Given the description of an element on the screen output the (x, y) to click on. 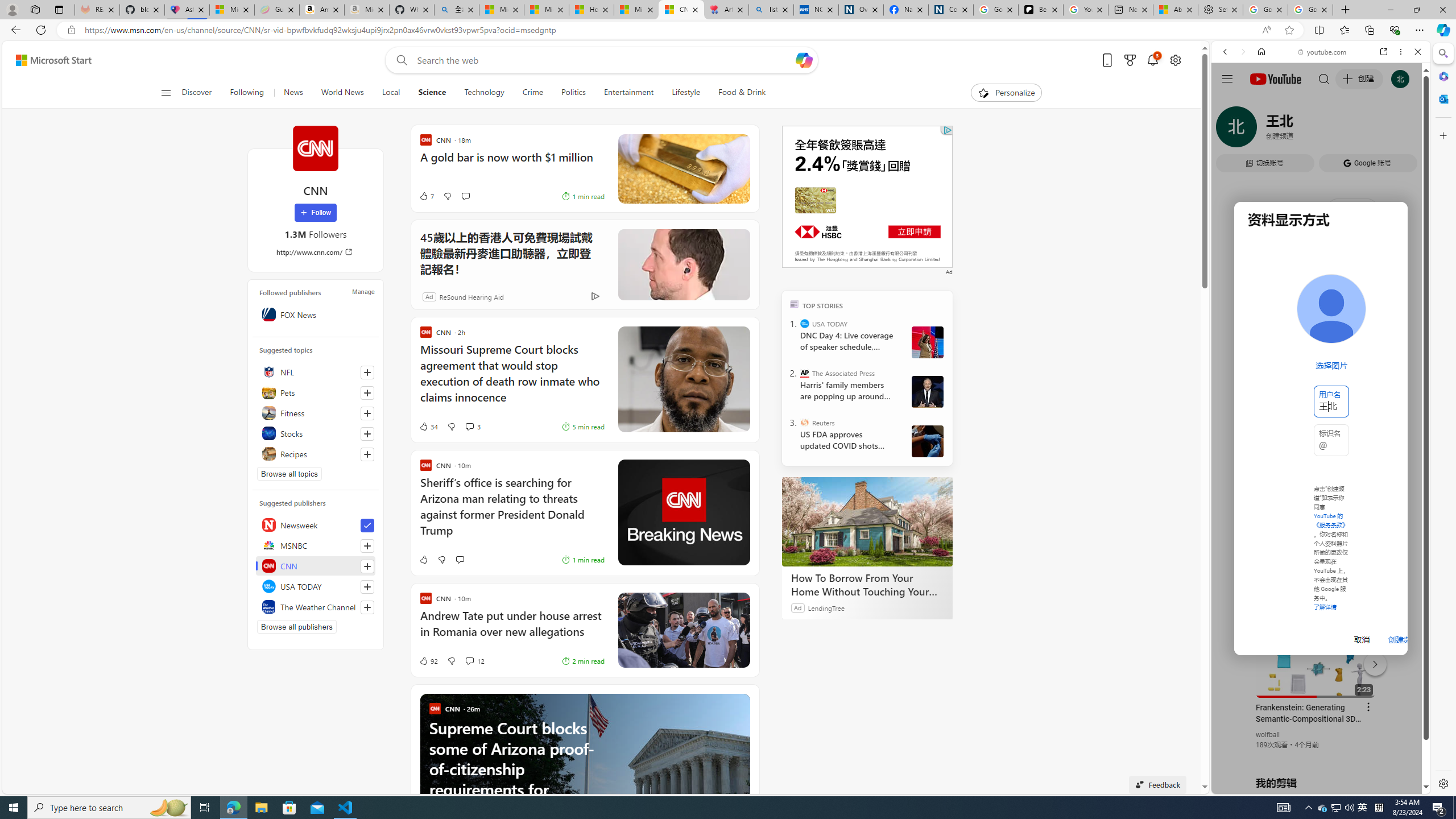
How I Got Rid of Microsoft Edge's Unnecessary Features (591, 9)
Enter your search term (603, 59)
LendingTree (826, 607)
Preferences (1403, 129)
